Given the description of an element on the screen output the (x, y) to click on. 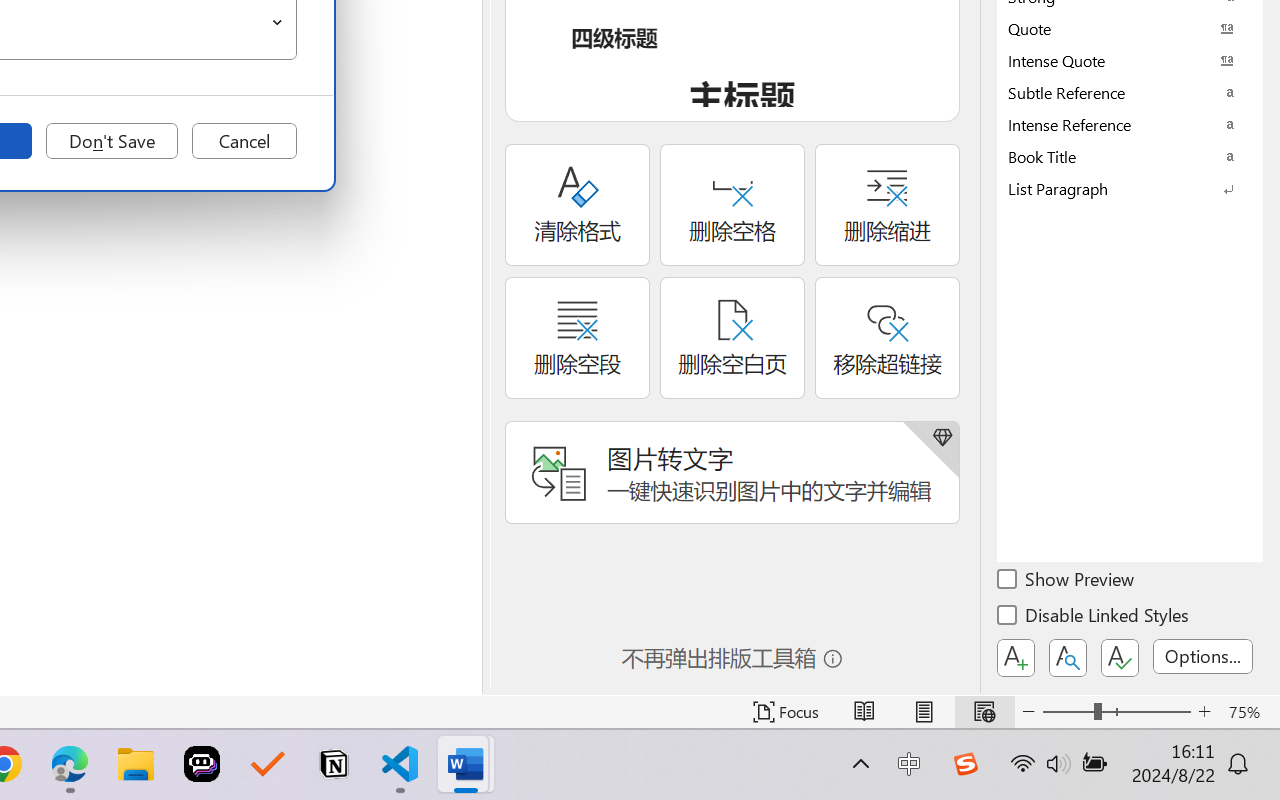
Cancel (244, 141)
Zoom (1116, 712)
Focus  (786, 712)
